Given the description of an element on the screen output the (x, y) to click on. 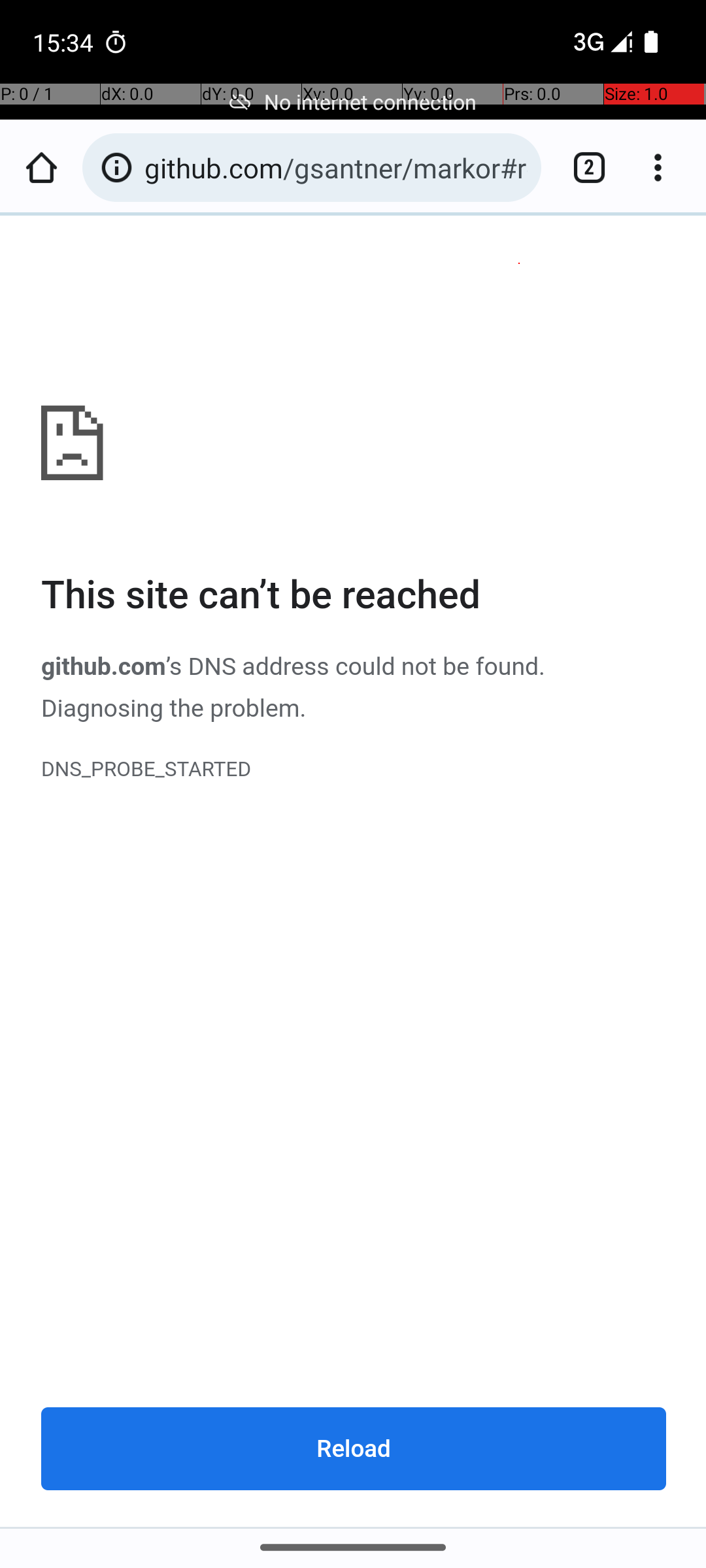
github.com/gsantner/markor#readme Element type: android.widget.EditText (335, 167)
This site can’t be reached Element type: android.widget.TextView (354, 595)
’s  Element type: android.widget.TextView (176, 666)
DNS address Element type: android.view.View (257, 666)
 could not be found. Diagnosing the problem. Element type: android.widget.TextView (293, 686)
DNS_PROBE_STARTED Element type: android.widget.TextView (354, 768)
